Given the description of an element on the screen output the (x, y) to click on. 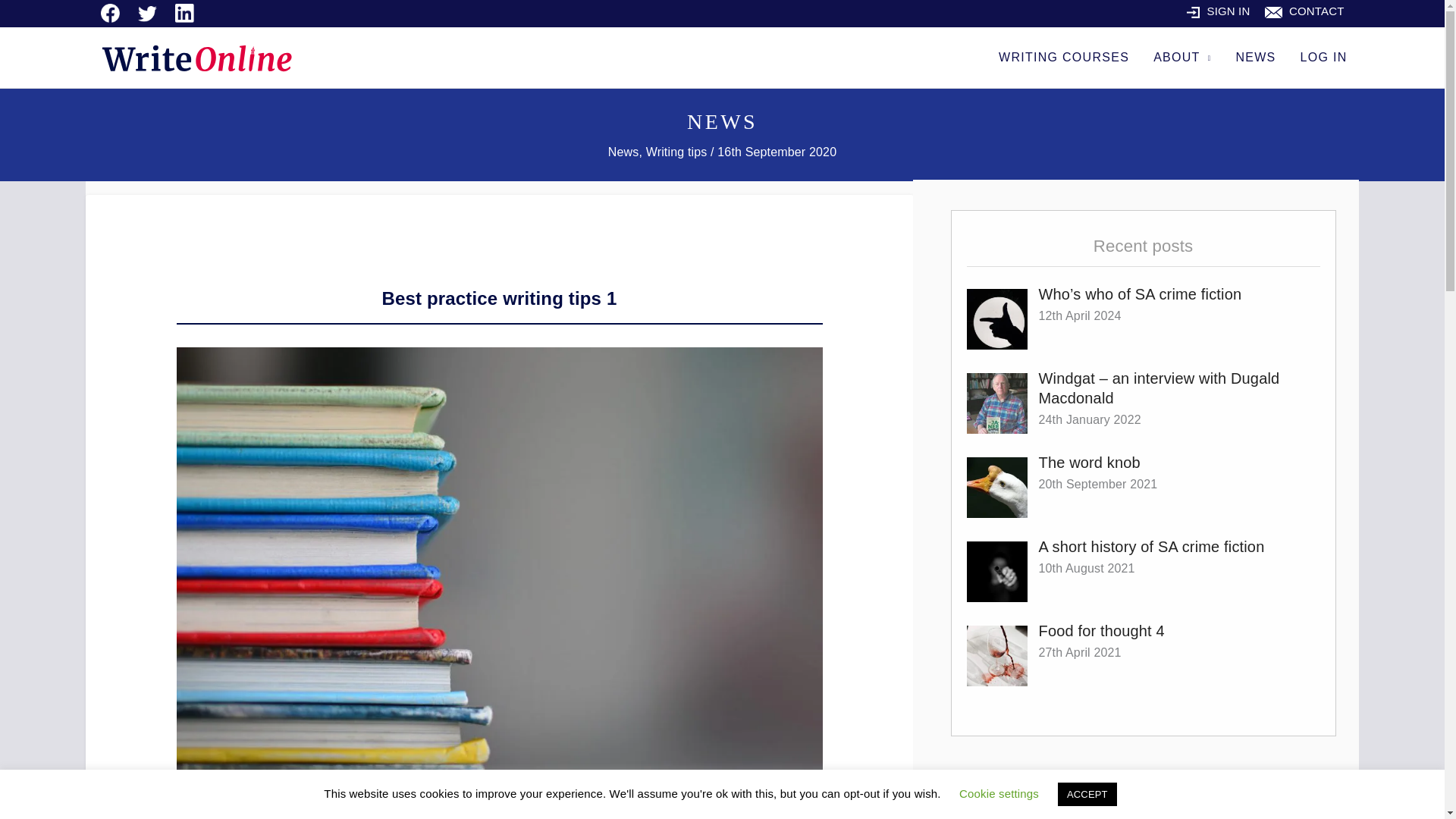
NEWS (1255, 57)
WRITING COURSES (1064, 57)
Writing tips (676, 151)
LOG IN (1323, 57)
A short history of SA crime fiction (1152, 546)
Food for thought 4 (1101, 630)
SIGN IN (1217, 10)
ABOUT (1182, 57)
CONTACT (1304, 10)
The word knob (1089, 462)
News (623, 151)
